Given the description of an element on the screen output the (x, y) to click on. 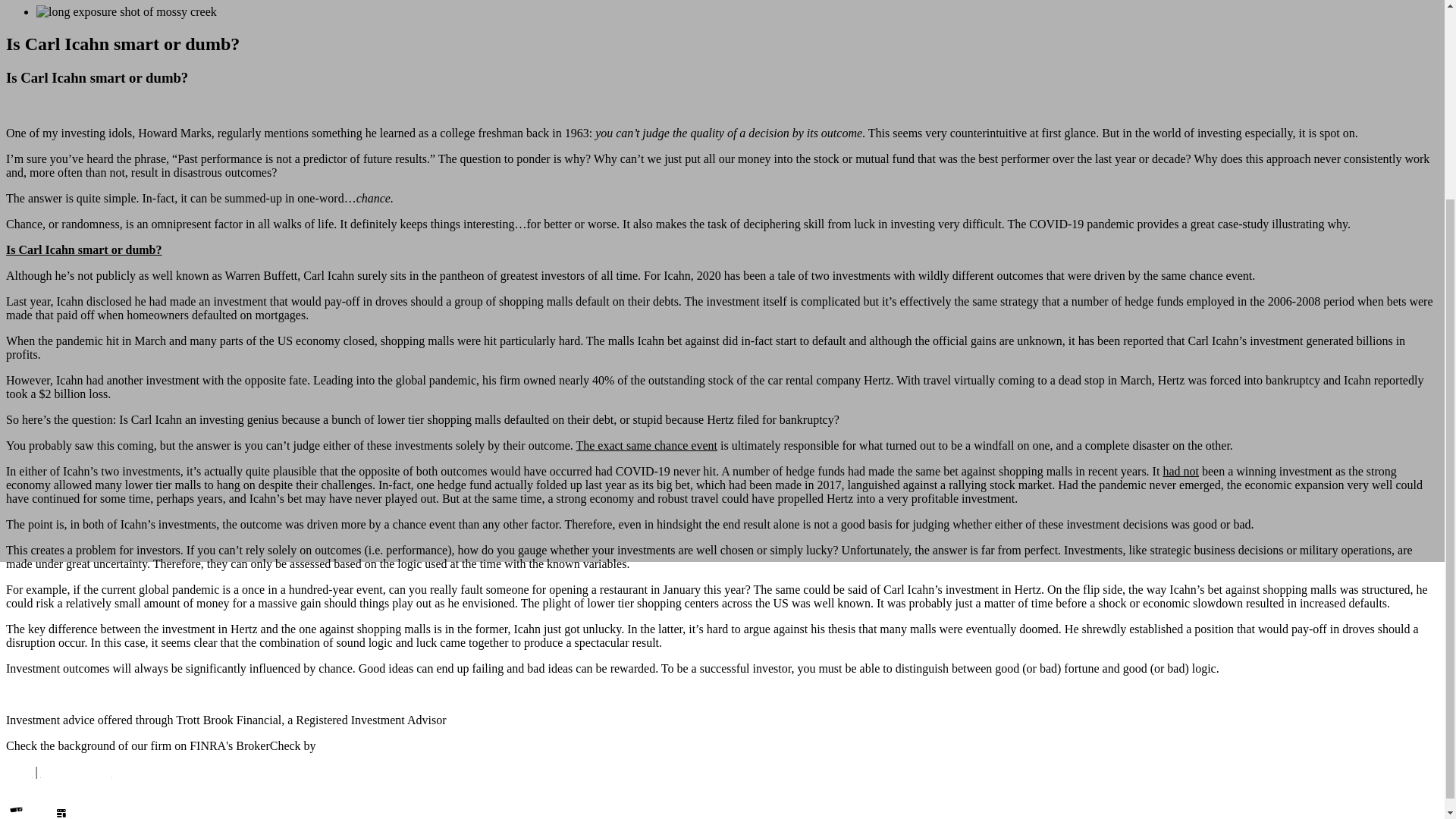
Privacy Policy (76, 771)
clicking here (349, 745)
ADV (18, 771)
Privacy Policy (76, 771)
ADV (18, 771)
